Given the description of an element on the screen output the (x, y) to click on. 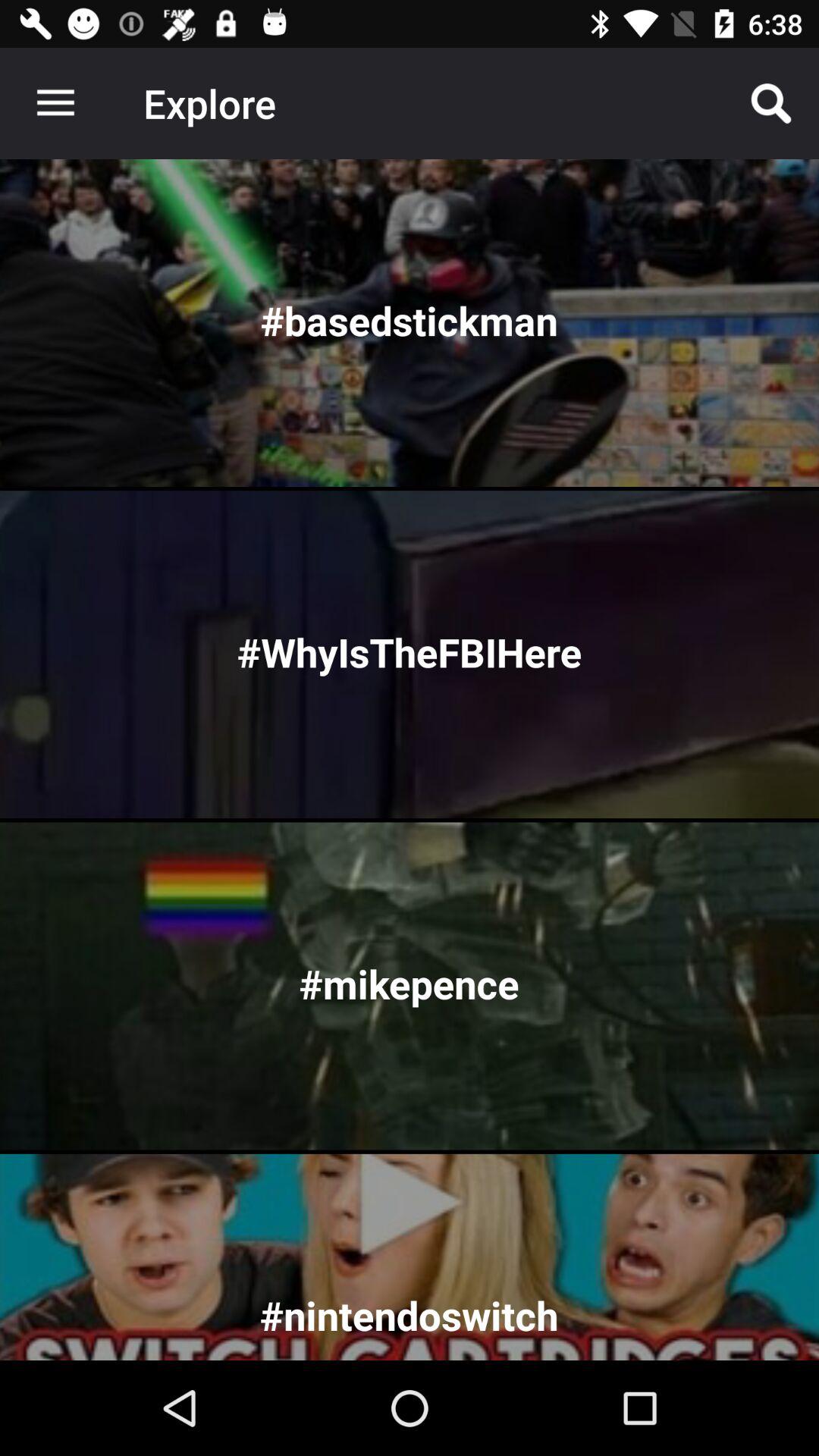
turn off the icon next to explore item (55, 103)
